Given the description of an element on the screen output the (x, y) to click on. 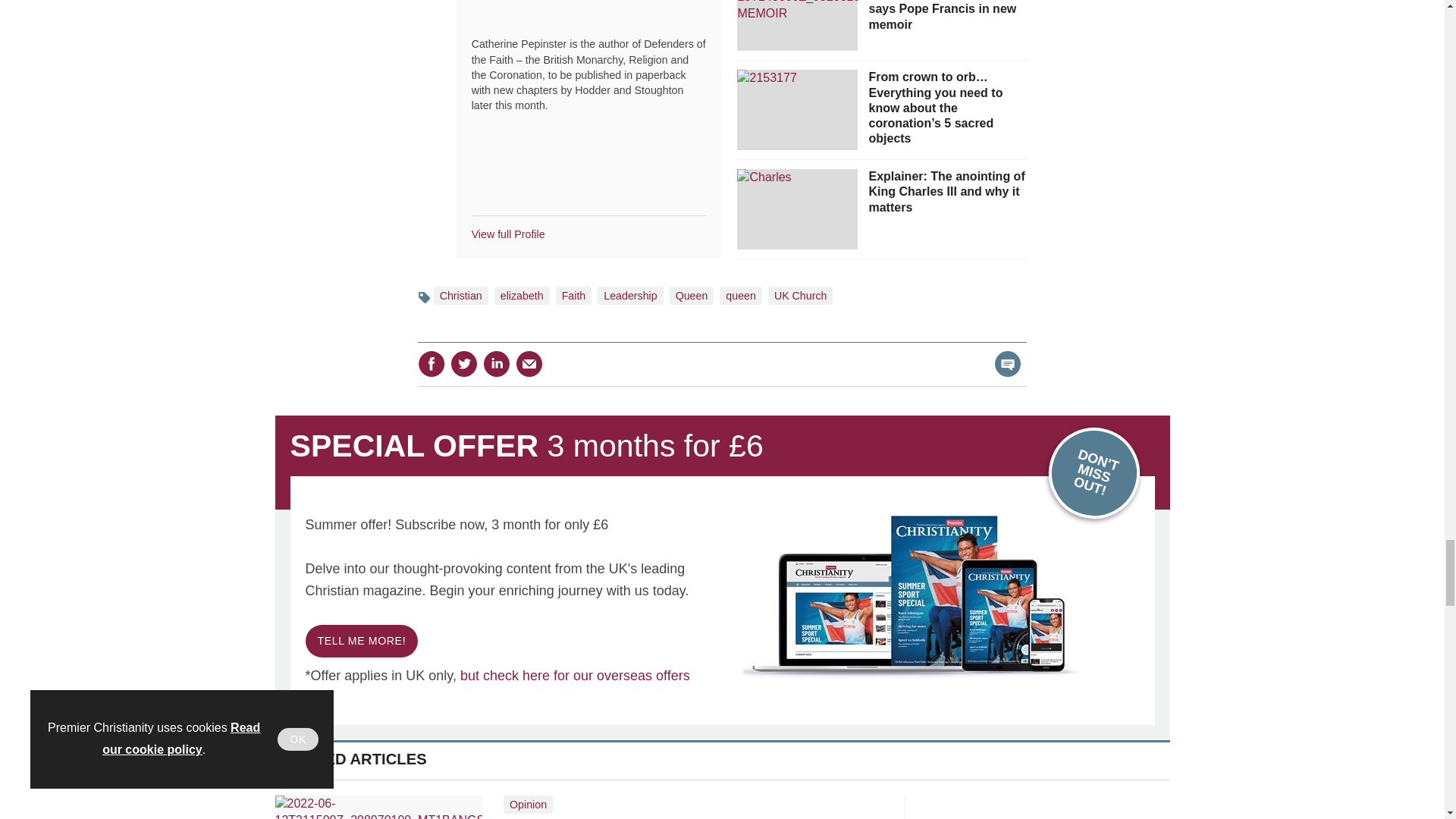
No comments (1003, 372)
Email this article (529, 363)
Share this on Facebook (431, 363)
Share this on Linked in (497, 363)
Share this on Twitter (463, 363)
